Given the description of an element on the screen output the (x, y) to click on. 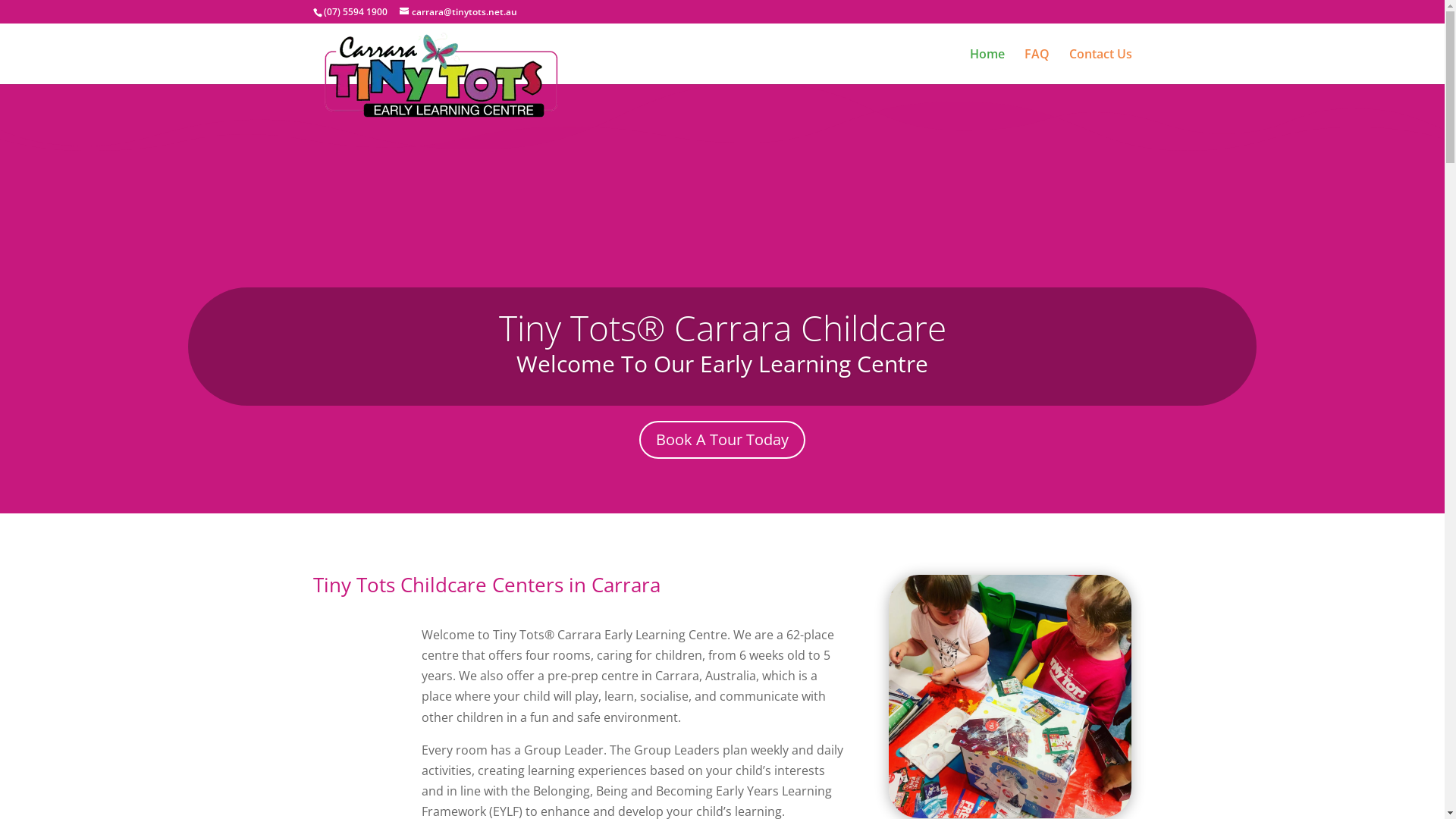
FAQ Element type: text (1035, 66)
carrara@tinytots.net.au Element type: text (457, 11)
Contact Us Element type: text (1100, 66)
Book A Tour Today Element type: text (722, 439)
Home Element type: text (986, 66)
(07) 5594 1900 Element type: text (354, 11)
